Given the description of an element on the screen output the (x, y) to click on. 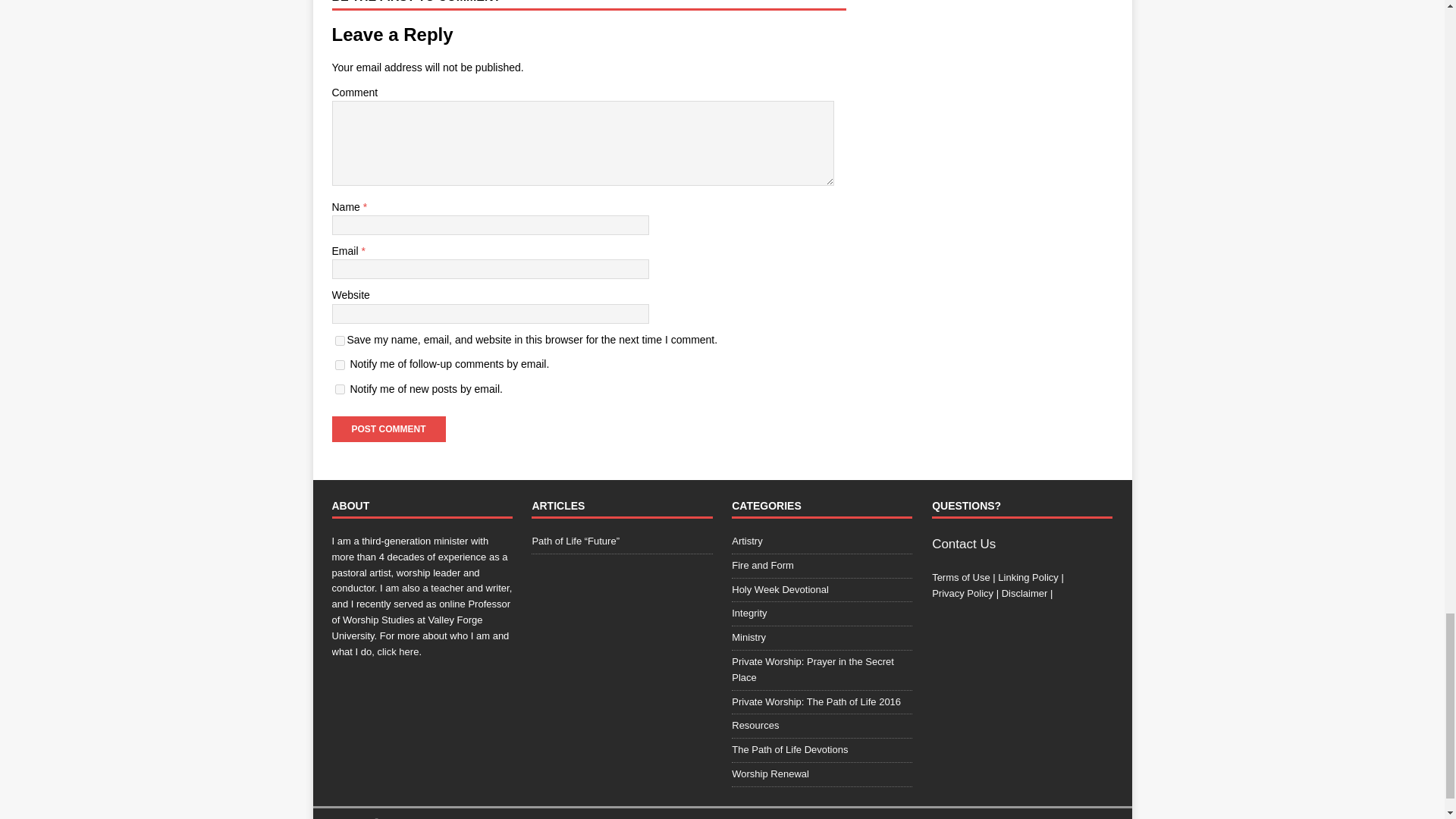
Post Comment (388, 429)
subscribe (339, 388)
yes (339, 340)
Post Comment (388, 429)
subscribe (339, 365)
